Given the description of an element on the screen output the (x, y) to click on. 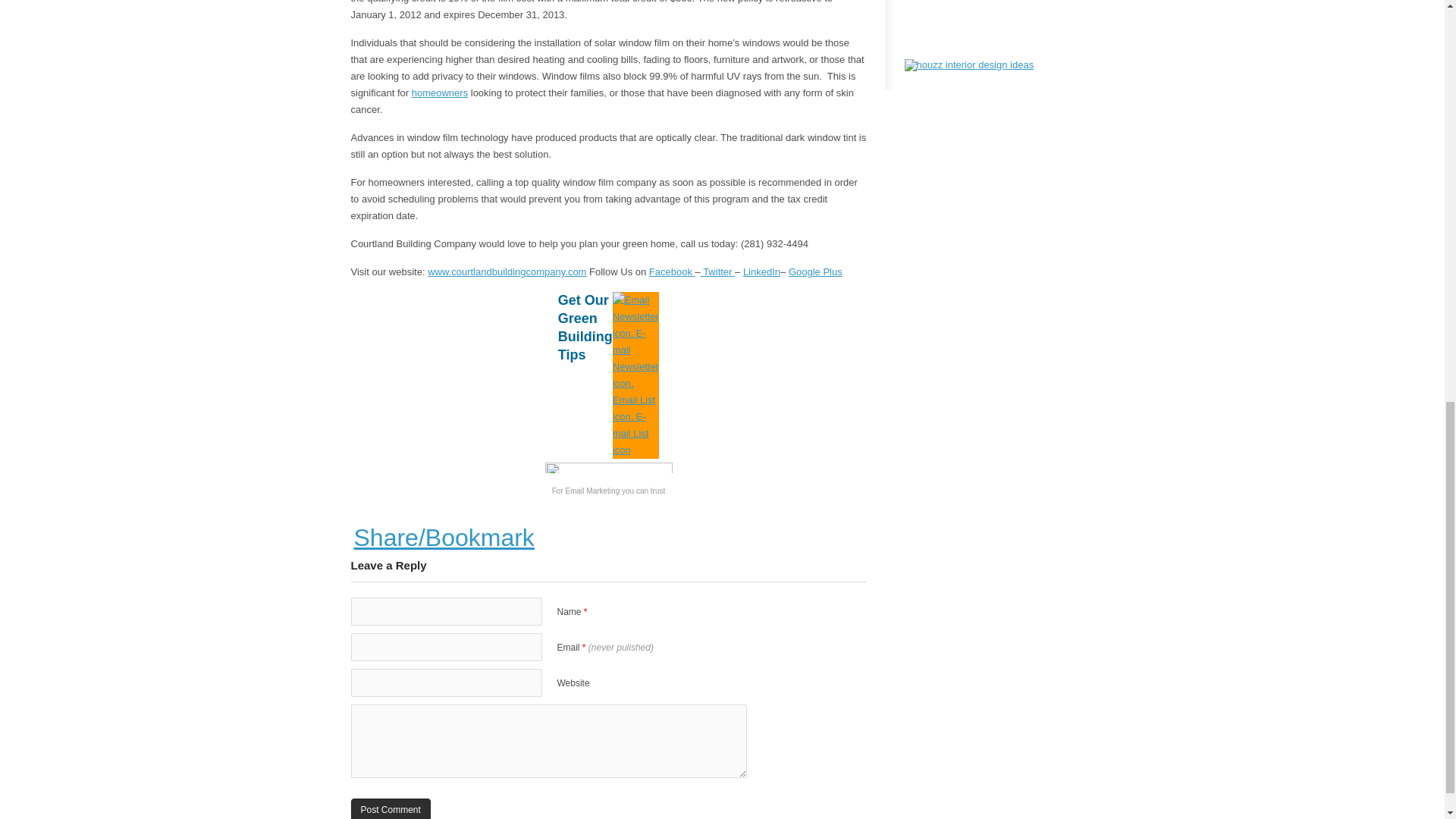
Twitter (717, 271)
homeowners (439, 92)
Google Plus (816, 271)
LinkedIn (761, 271)
Facebook (672, 271)
Email Marketing (593, 490)
www.courtlandbuildingcompany.com (507, 271)
